Given the description of an element on the screen output the (x, y) to click on. 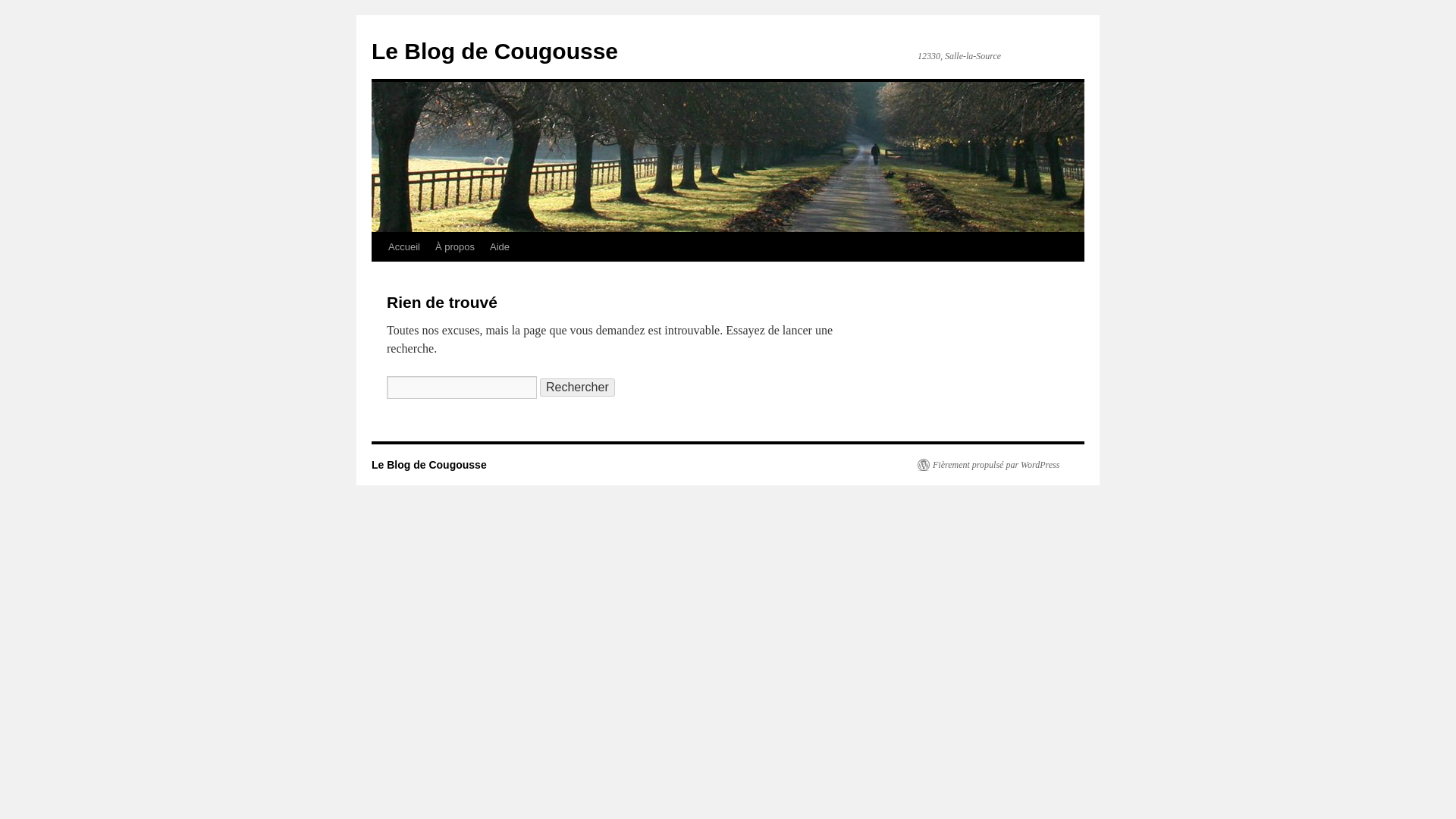
Accueil (404, 246)
Aide (498, 246)
Le Blog de Cougousse (494, 50)
Le Blog de Cougousse (494, 50)
Rechercher (577, 387)
Rechercher (577, 387)
